Given the description of an element on the screen output the (x, y) to click on. 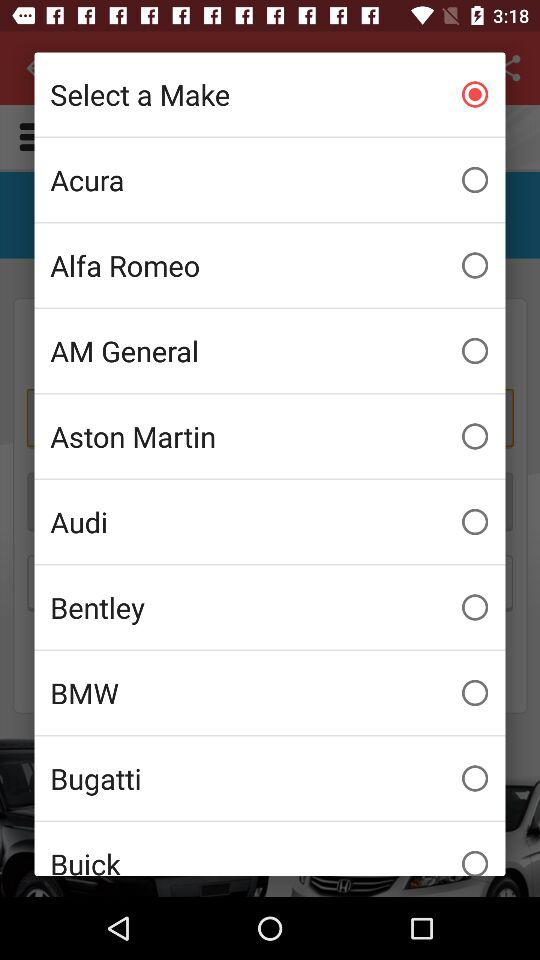
tap the icon below audi icon (269, 607)
